Given the description of an element on the screen output the (x, y) to click on. 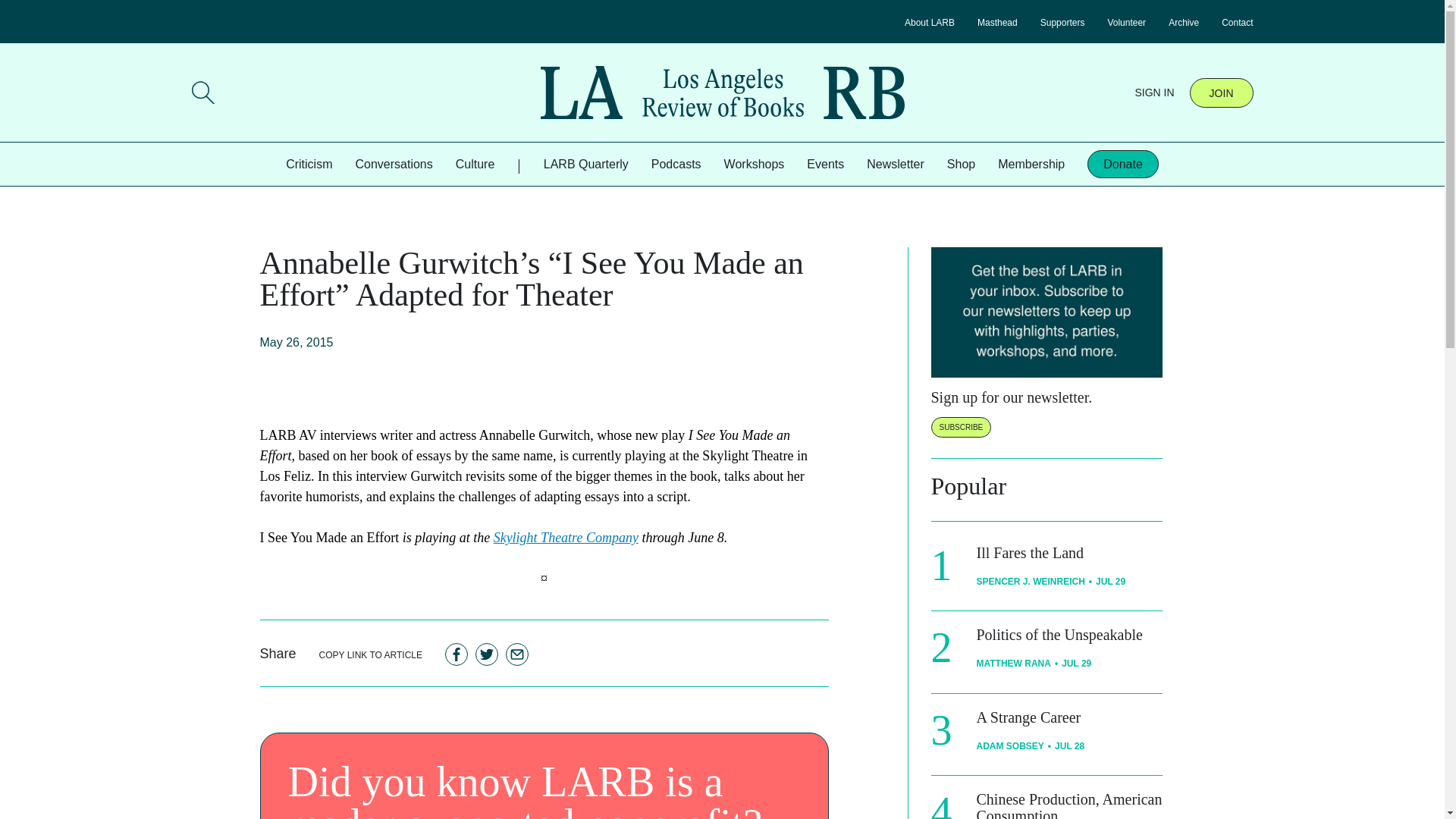
Culture (475, 163)
COPY LINK TO ARTICLE (370, 654)
Share on twitter (486, 654)
Skylight Theatre Company (566, 537)
Sign up for our newsletter. (1012, 397)
Membership (1030, 163)
Ill Fares the Land (1030, 552)
LARB Quarterly (585, 163)
Newsletter (895, 163)
Chinese Production, American Consumption (1068, 805)
Shop (961, 163)
Donate (1122, 163)
Contact (1236, 22)
About LARB (929, 22)
Volunteer (1125, 22)
